Given the description of an element on the screen output the (x, y) to click on. 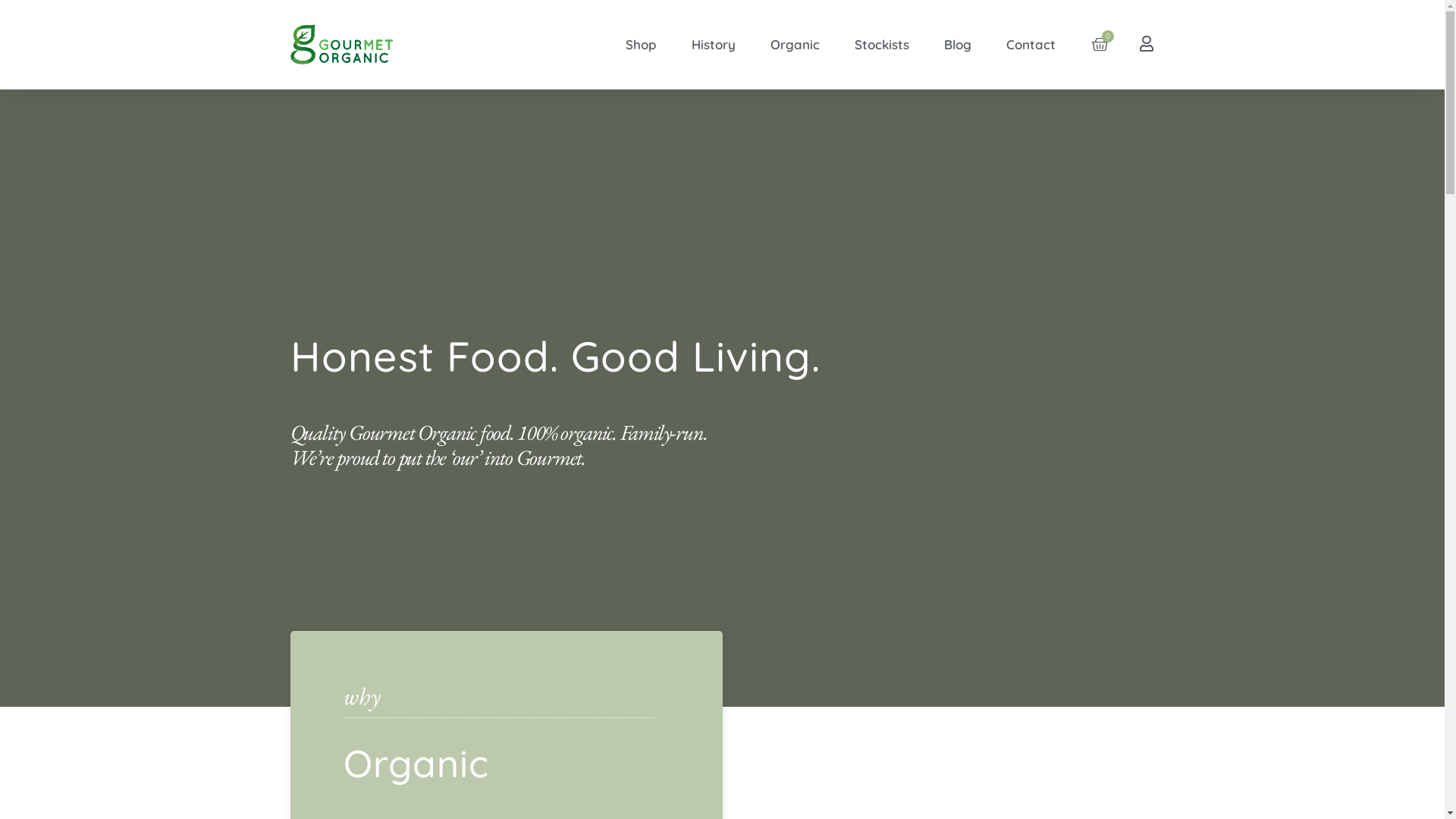
Blog Element type: text (957, 44)
Stockists Element type: text (881, 44)
Contact Element type: text (1030, 44)
0 Element type: text (1099, 44)
Organic Element type: text (795, 44)
History Element type: text (713, 44)
Shop Element type: text (641, 44)
